Given the description of an element on the screen output the (x, y) to click on. 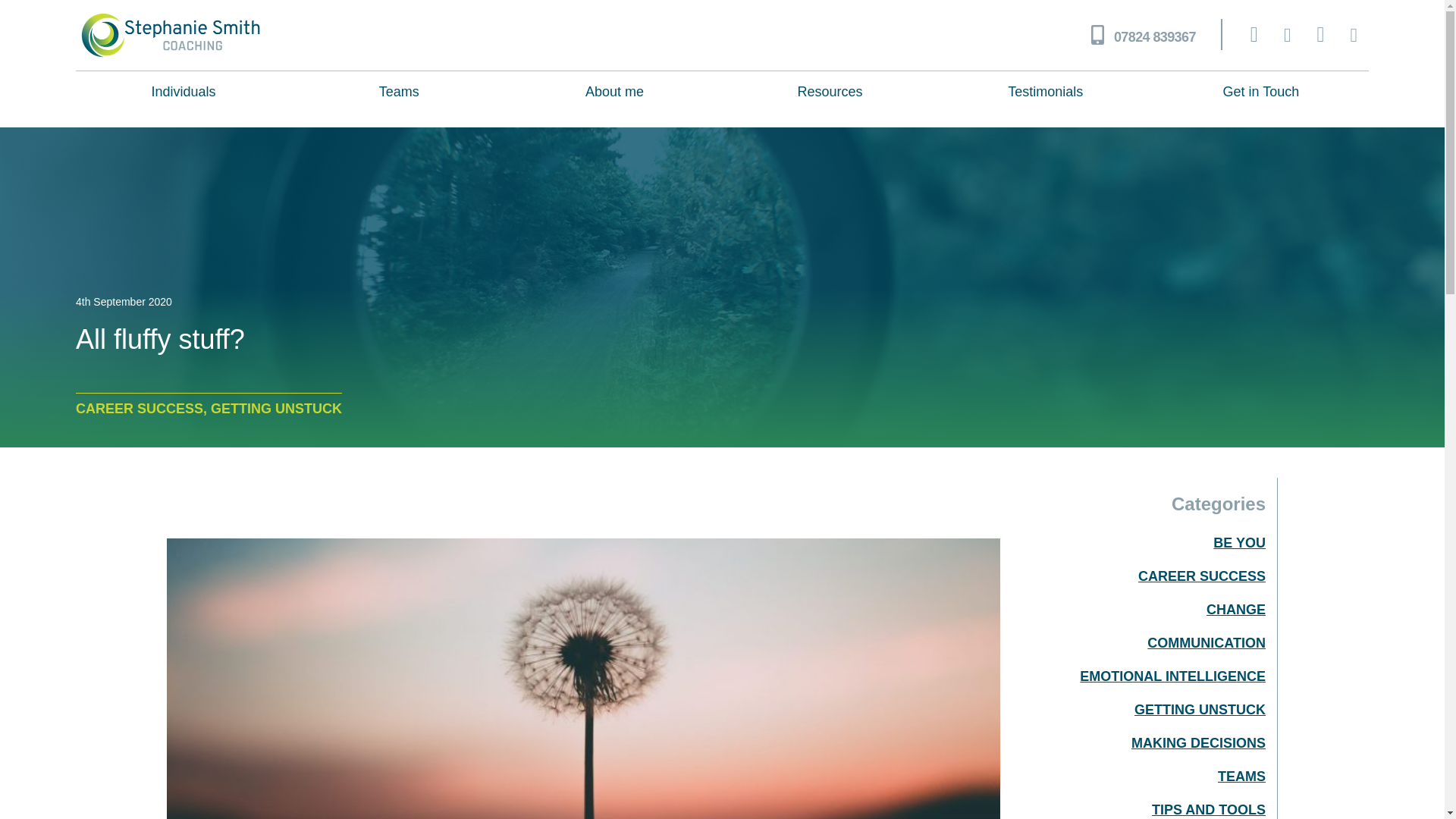
Teams (398, 91)
Testimonials (1045, 91)
CAREER SUCCESS (1138, 576)
BE YOU (1138, 542)
Individuals (183, 91)
About me (614, 91)
About me (614, 91)
Resources (829, 91)
EMOTIONAL INTELLIGENCE (1138, 676)
07824 839367 (1154, 37)
Resources (829, 91)
CHANGE (1138, 609)
Teams (398, 91)
TEAMS (1138, 776)
Get in Touch (1260, 91)
